Given the description of an element on the screen output the (x, y) to click on. 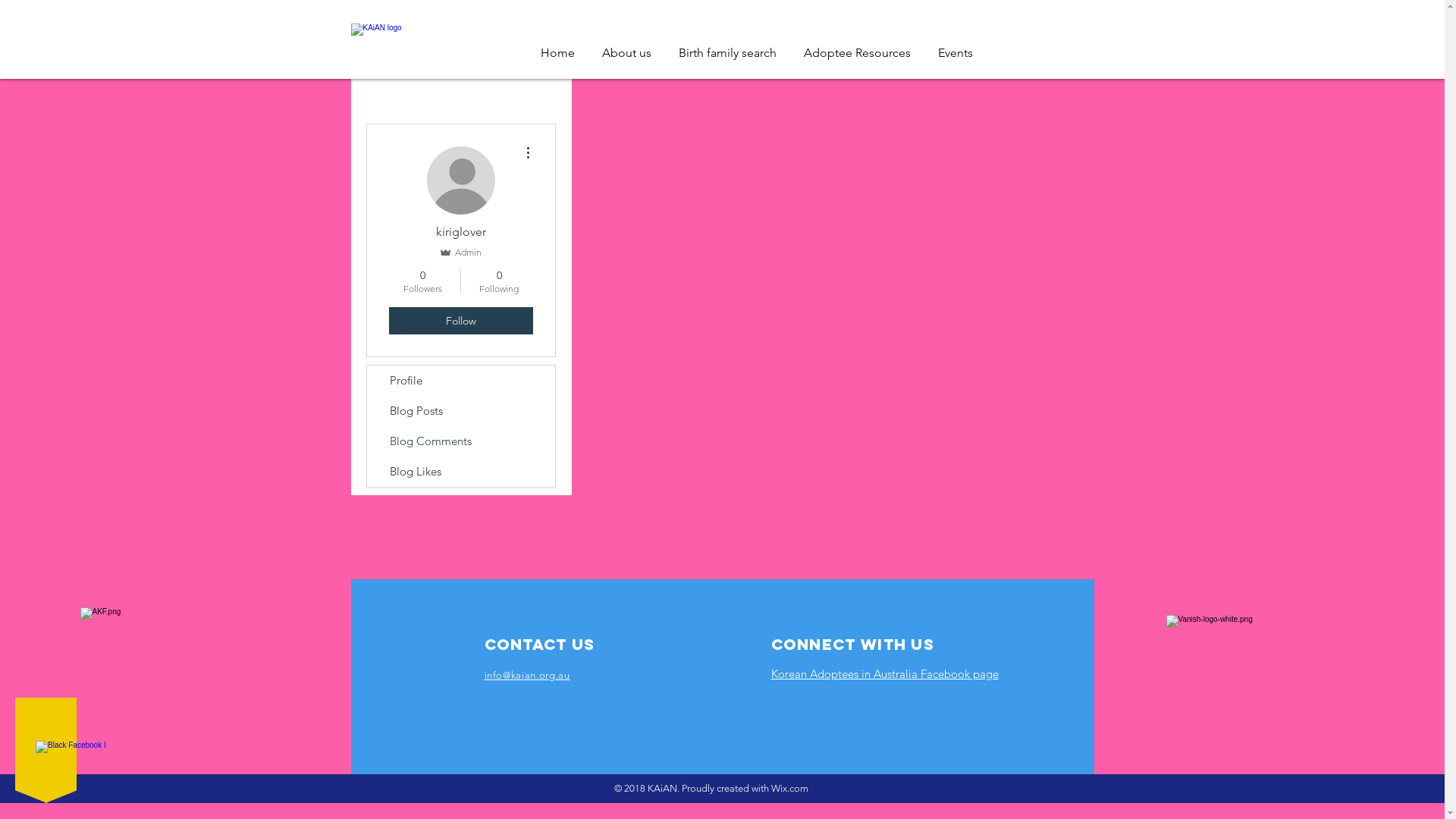
Korean Adoptees in Australia Facebook page Element type: text (883, 673)
Blog Likes Element type: text (461, 471)
Adoptee Resources Element type: text (857, 45)
0
Following Element type: text (499, 280)
Birth family search Element type: text (726, 45)
Blog Comments Element type: text (461, 441)
About us Element type: text (626, 45)
Profile Element type: text (461, 380)
Wix.com Element type: text (789, 787)
Follow Element type: text (460, 320)
Blog Comments  Element type: hover (827, 351)
Events Element type: text (954, 45)
0
Followers Element type: text (421, 280)
Blog Posts Element type: text (461, 410)
Home Element type: text (556, 45)
info@kaian.org.au Element type: text (526, 674)
